Given the description of an element on the screen output the (x, y) to click on. 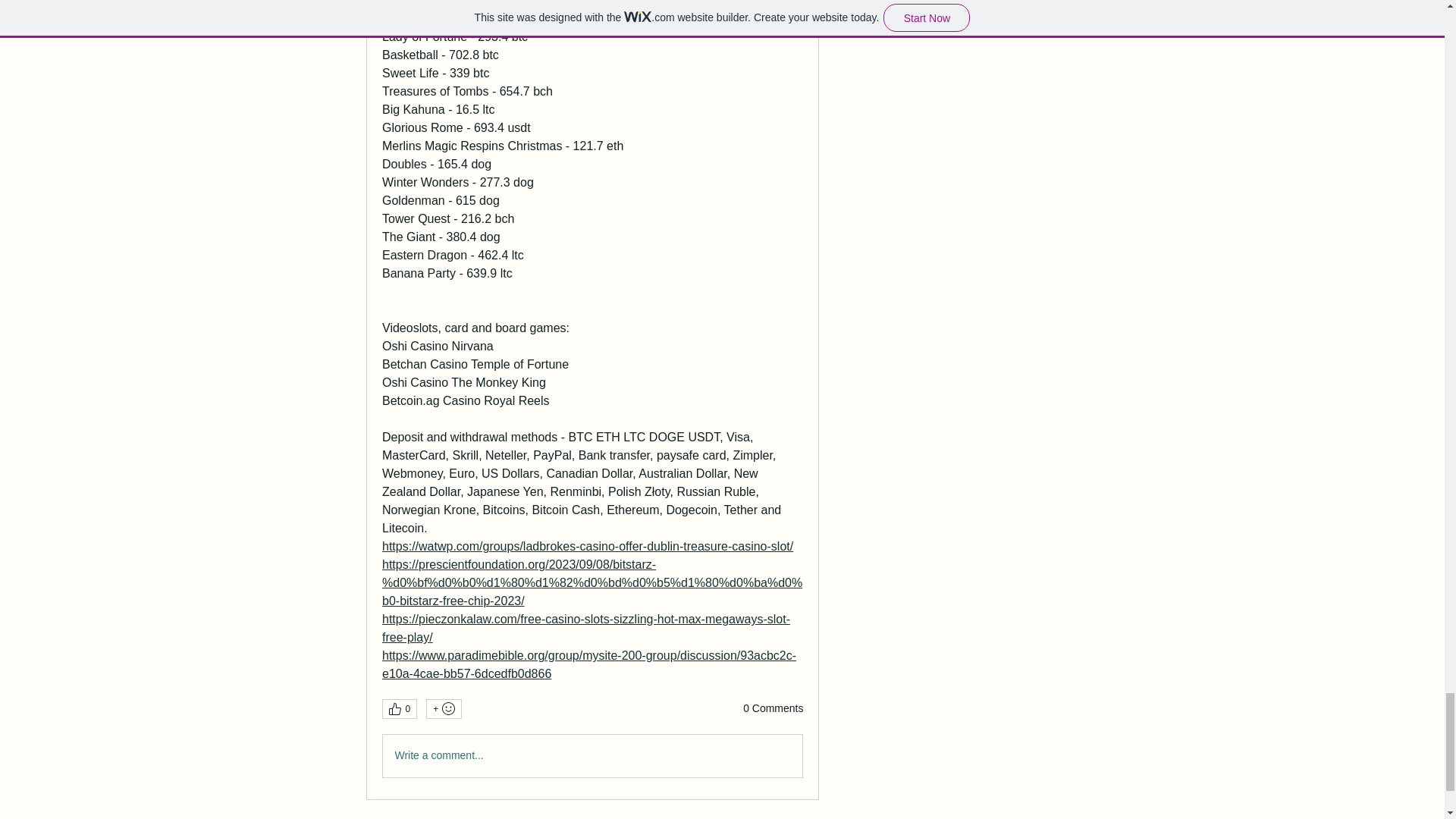
0 Comments (772, 708)
Write a comment... (591, 755)
